Given the description of an element on the screen output the (x, y) to click on. 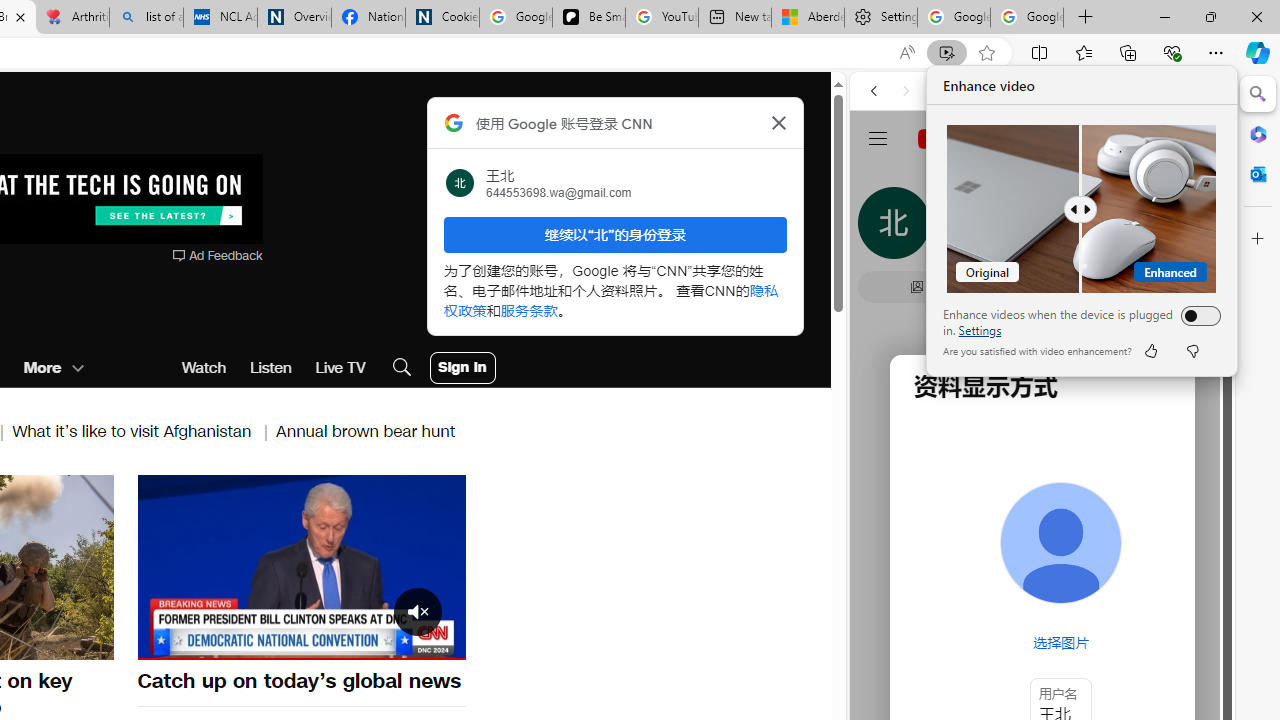
Search videos from youtube.com (1005, 657)
Options (394, 642)
Music (1042, 543)
Aberdeen, Hong Kong SAR hourly forecast | Microsoft Weather (807, 17)
Annual brown bear hunt (365, 430)
Forward 10 seconds (361, 565)
Google (947, 584)
Fullscreen (438, 642)
Backward 10 seconds (241, 565)
Forward 10 seconds (361, 566)
